Given the description of an element on the screen output the (x, y) to click on. 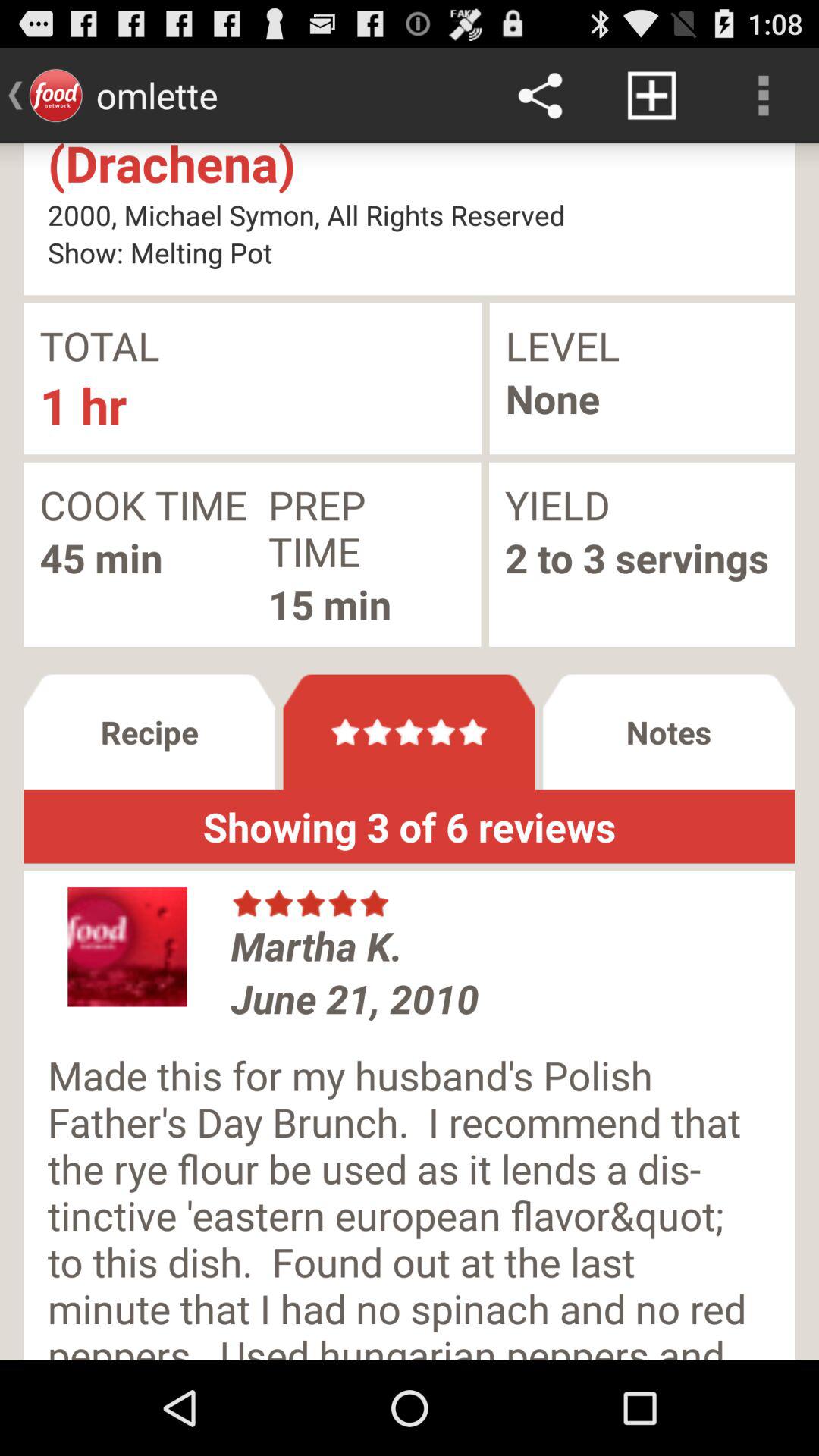
tap the notes button (669, 731)
